Given the description of an element on the screen output the (x, y) to click on. 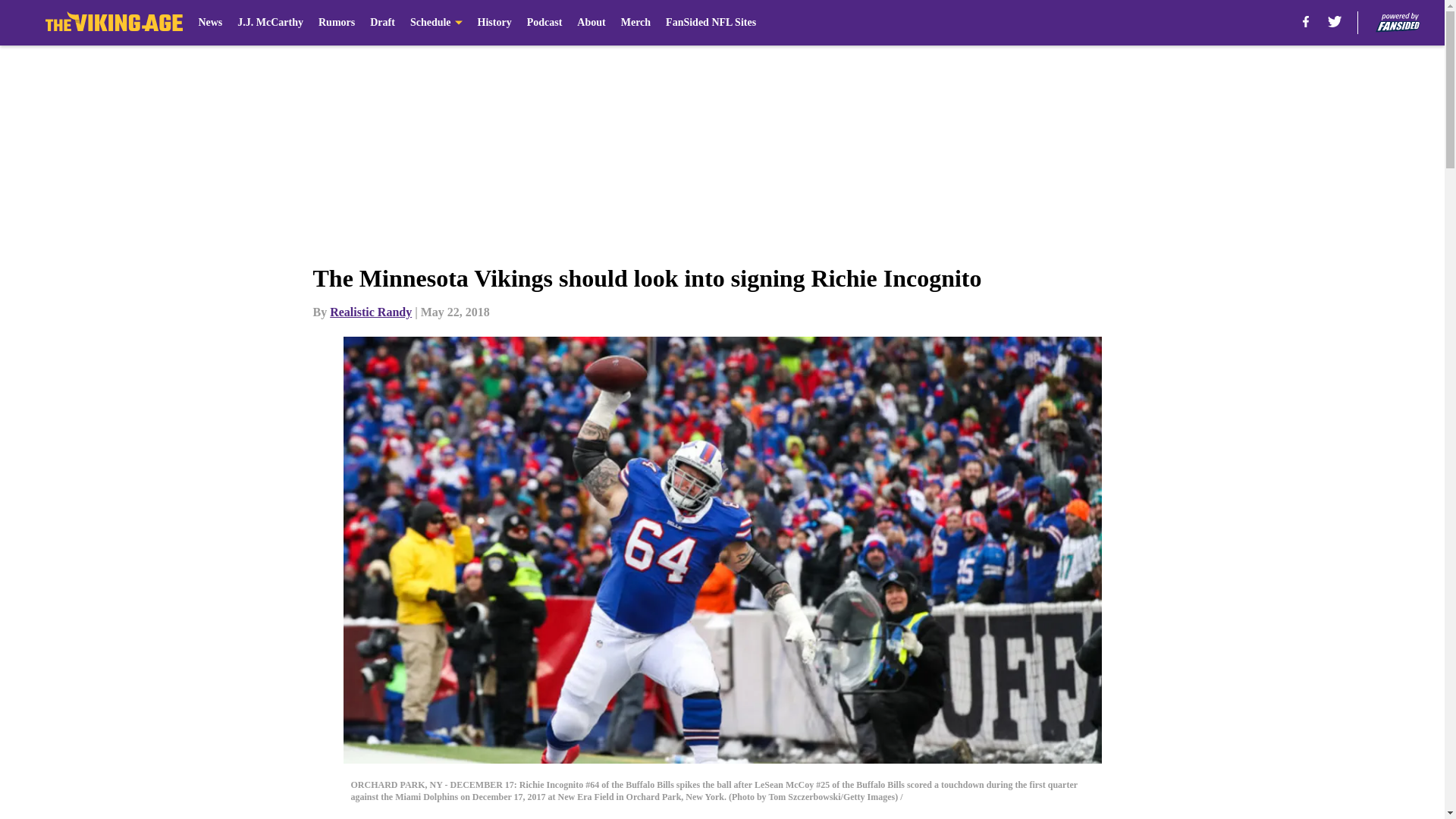
Realistic Randy (371, 311)
Podcast (544, 22)
News (210, 22)
Merch (635, 22)
Rumors (336, 22)
History (494, 22)
About (590, 22)
FanSided NFL Sites (710, 22)
Draft (381, 22)
J.J. McCarthy (269, 22)
